Given the description of an element on the screen output the (x, y) to click on. 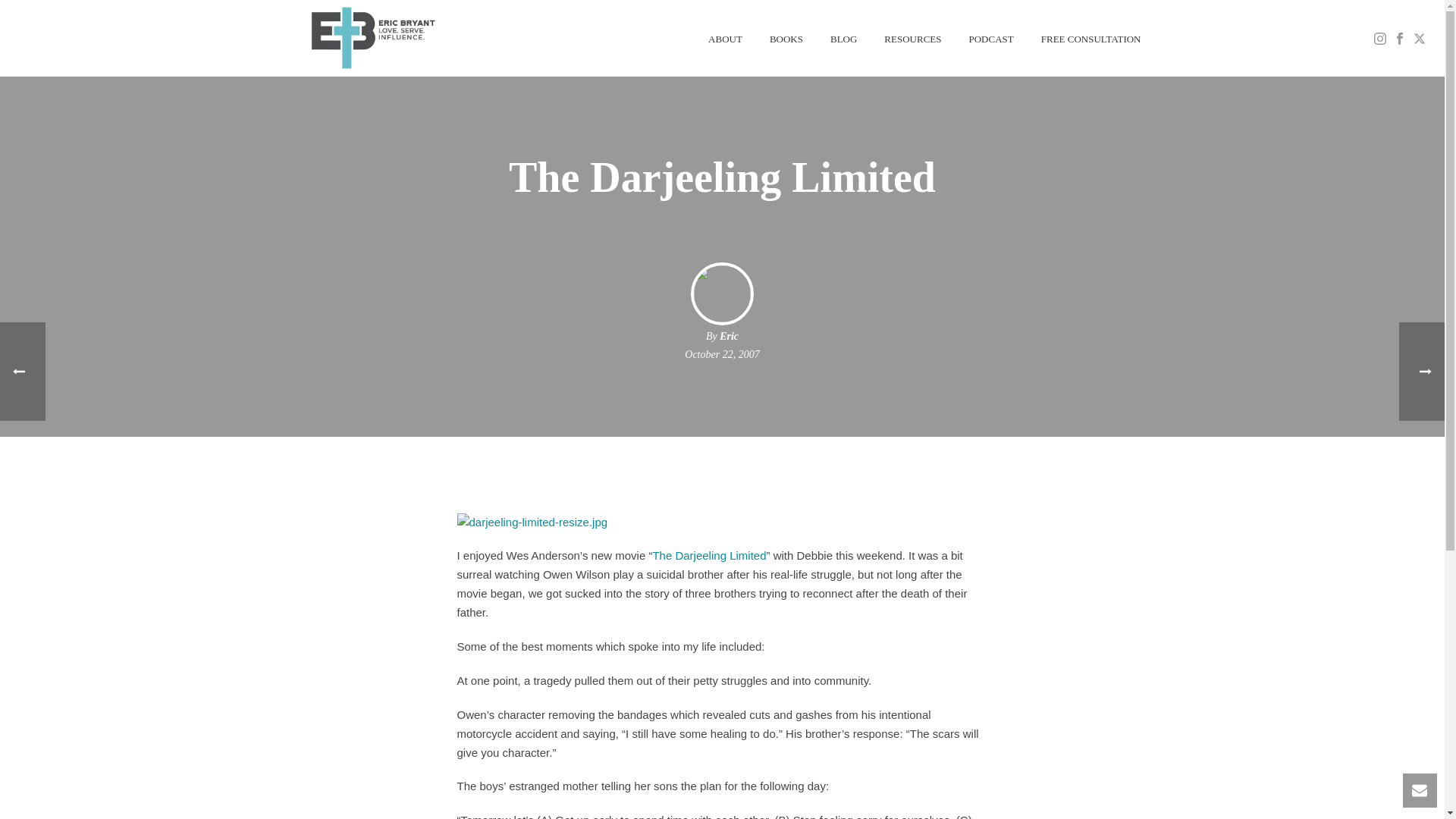
FREE CONSULTATION (1090, 38)
FREE CONSULTATION (1090, 38)
love. serve. influence. (371, 38)
The Darjeeling Limited (708, 554)
RESOURCES (912, 38)
Eric (728, 336)
October 22, 2007 (721, 354)
PODCAST (991, 38)
PODCAST (991, 38)
darjeeling-limited-resize.jpg (532, 521)
RESOURCES (912, 38)
